Given the description of an element on the screen output the (x, y) to click on. 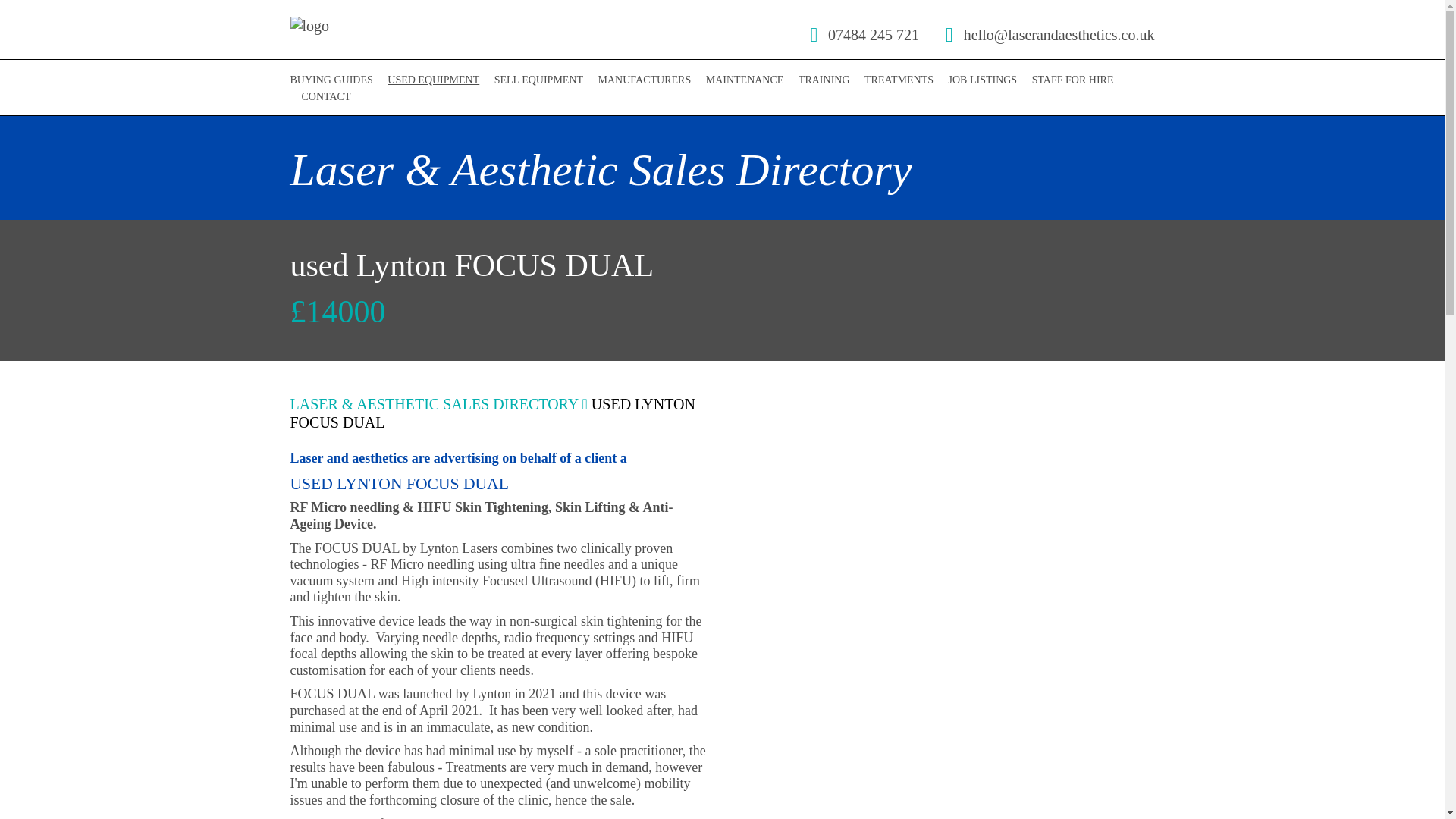
TRAINING (823, 79)
JOB LISTINGS (983, 79)
MANUFACTURERS (644, 79)
SELL EQUIPMENT (539, 79)
CONTACT (325, 96)
STAFF FOR HIRE (1072, 79)
MAINTENANCE (745, 79)
BUYING GUIDES (330, 79)
TREATMENTS (898, 79)
USED EQUIPMENT (433, 79)
